Given the description of an element on the screen output the (x, y) to click on. 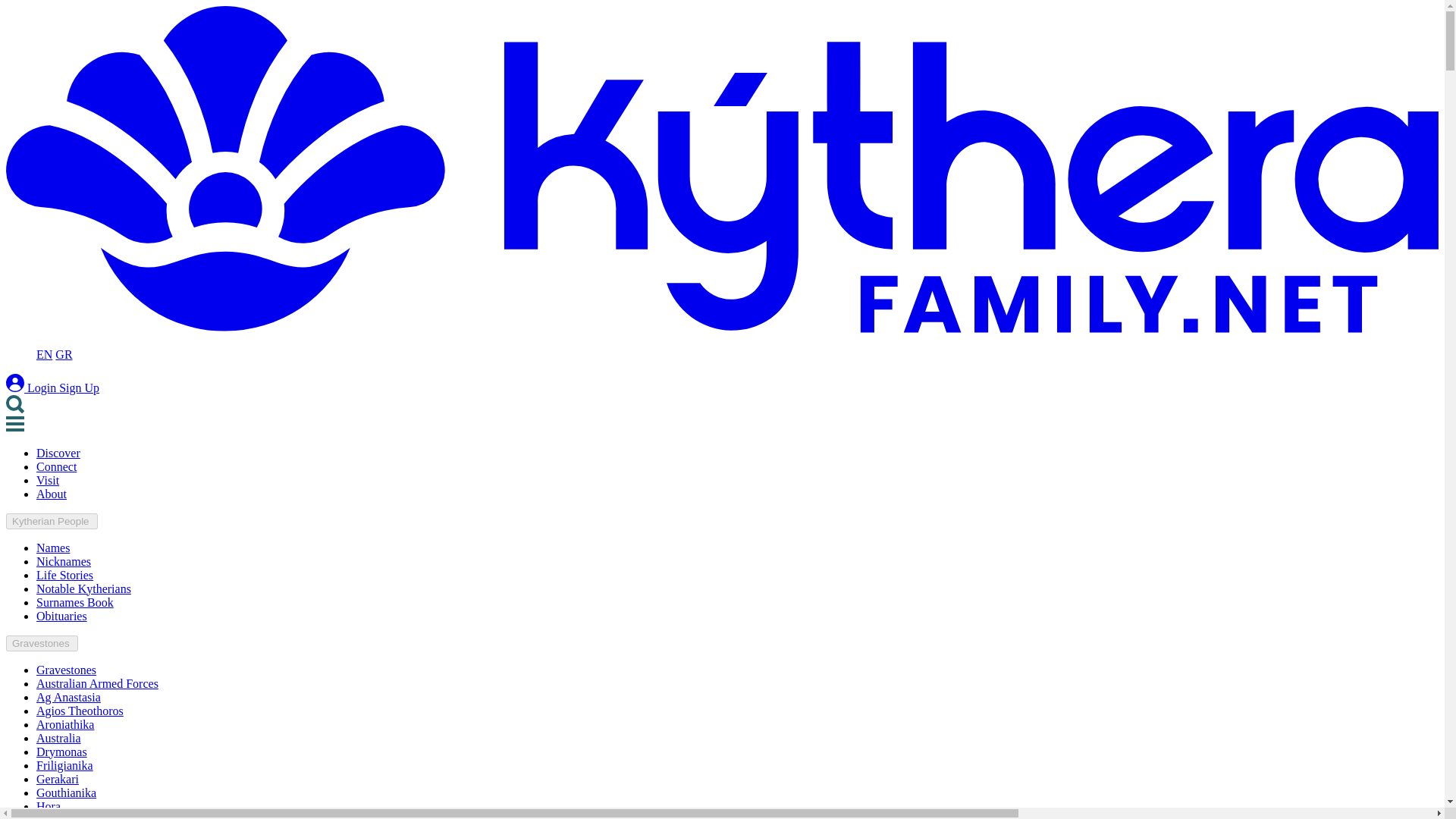
Friligianika (64, 765)
Notable Kytherians (83, 588)
Visit (47, 480)
Australia (58, 738)
Gouthianika (66, 792)
Gravestones (66, 669)
About (51, 493)
Kaspali (55, 816)
Gerakari (57, 779)
Kaspali (55, 816)
